Given the description of an element on the screen output the (x, y) to click on. 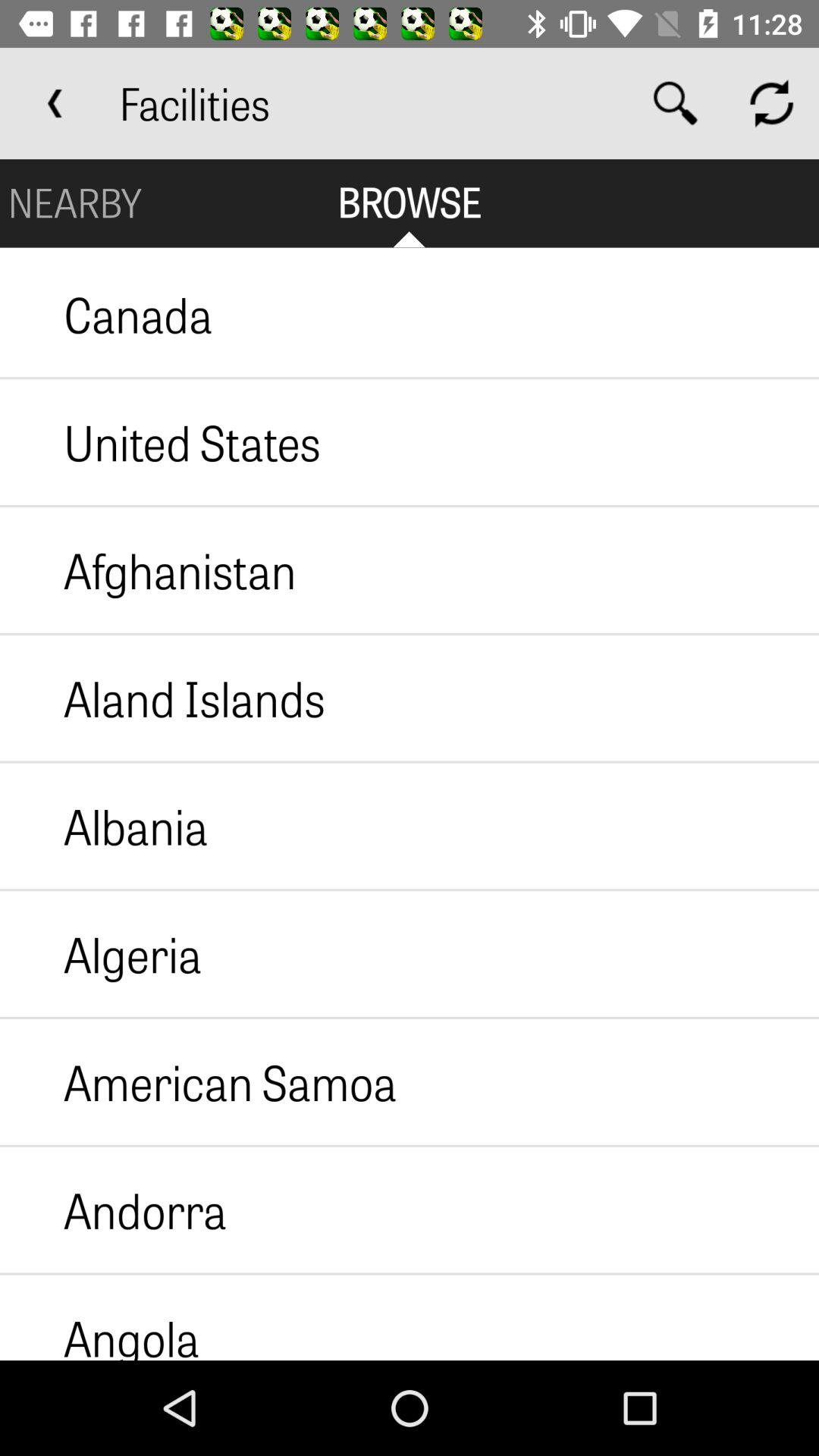
select icon next to facilities item (55, 103)
